Given the description of an element on the screen output the (x, y) to click on. 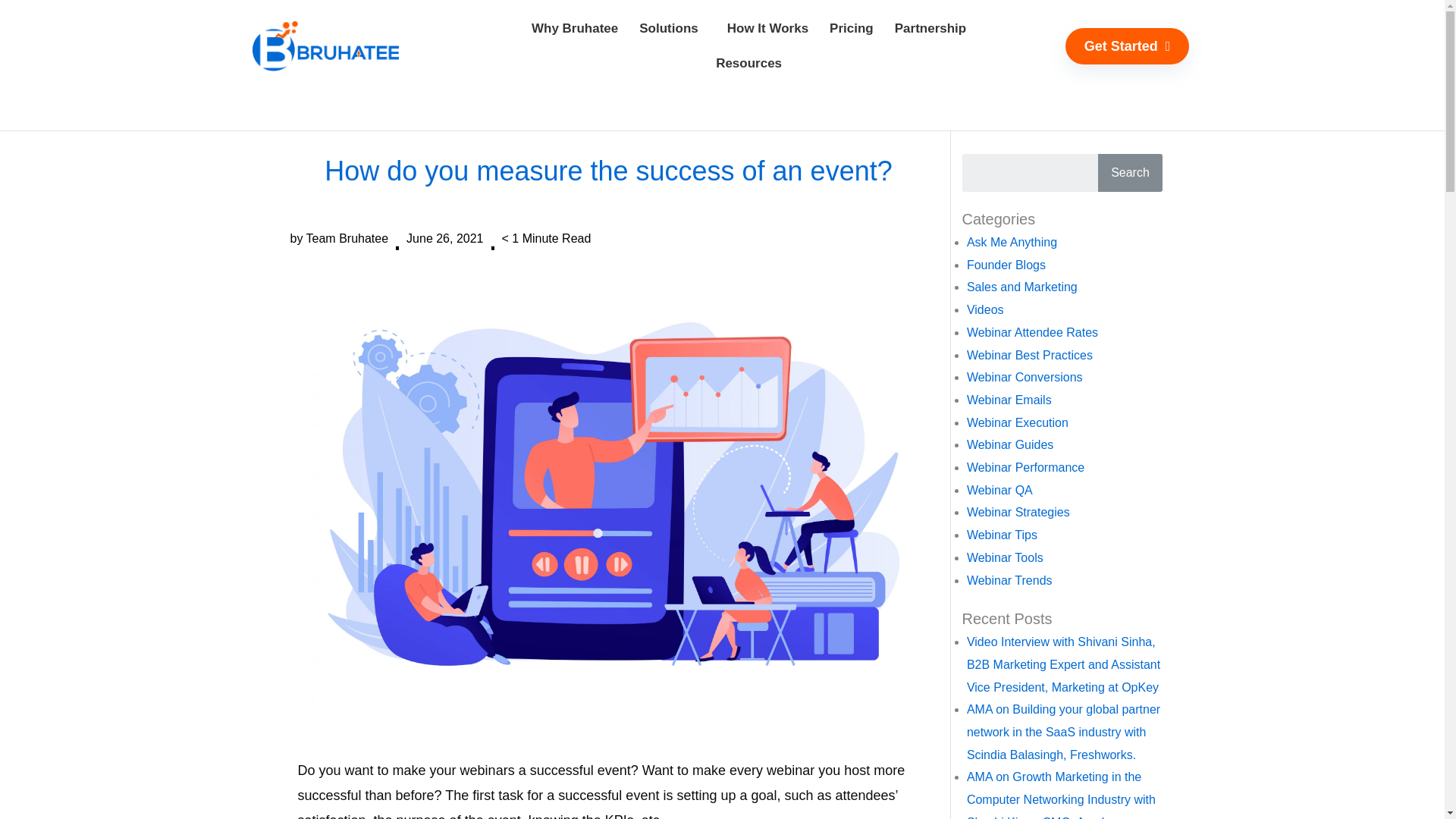
Solutions (672, 28)
Pricing (850, 28)
Webinar Conversions (1024, 377)
logo (324, 46)
Resources (748, 63)
Webinar Attendee Rates (1031, 332)
How It Works (767, 28)
Sales and Marketing (1021, 286)
Webinar Best Practices (1029, 354)
Webinar Emails (1008, 399)
Search (1129, 172)
June 26, 2021 (444, 238)
Why Bruhatee (574, 28)
Partnership (929, 28)
Founder Blogs (1005, 264)
